Given the description of an element on the screen output the (x, y) to click on. 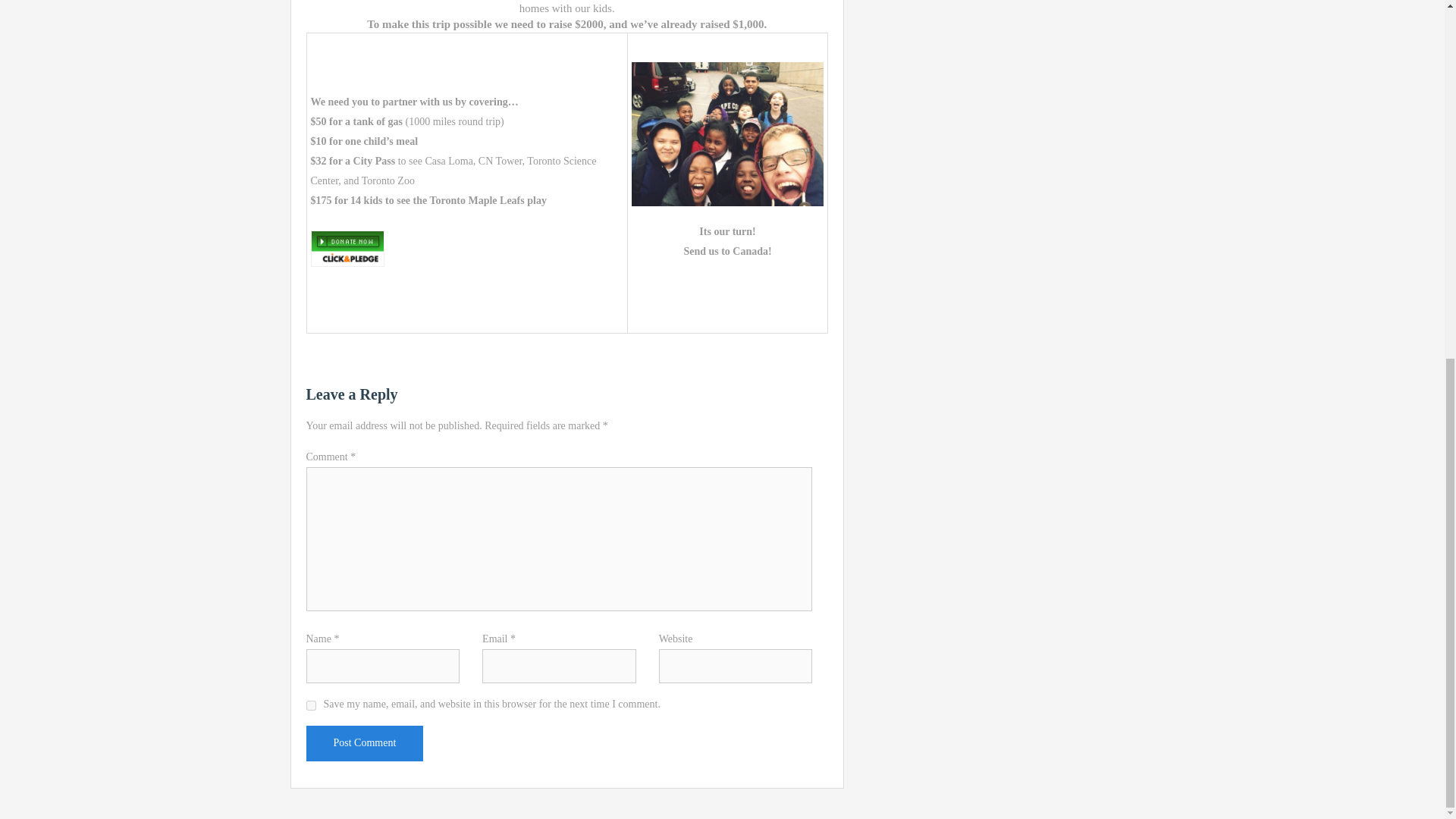
yes (310, 705)
Online donation system by ClickandPledge (347, 248)
Post Comment (364, 743)
